Given the description of an element on the screen output the (x, y) to click on. 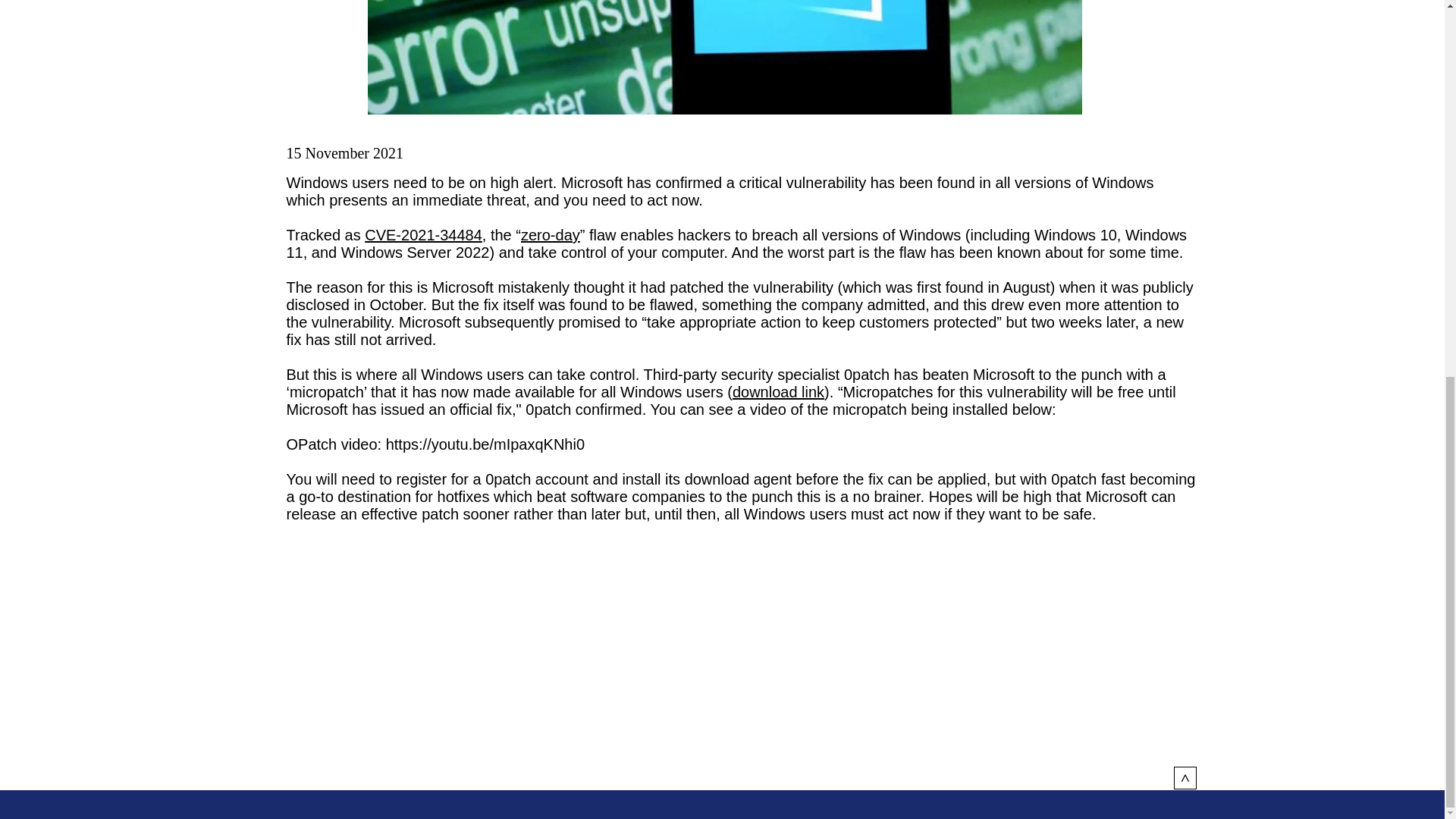
download link (778, 392)
zero-day (550, 234)
CVE-2021-34484 (423, 234)
